Given the description of an element on the screen output the (x, y) to click on. 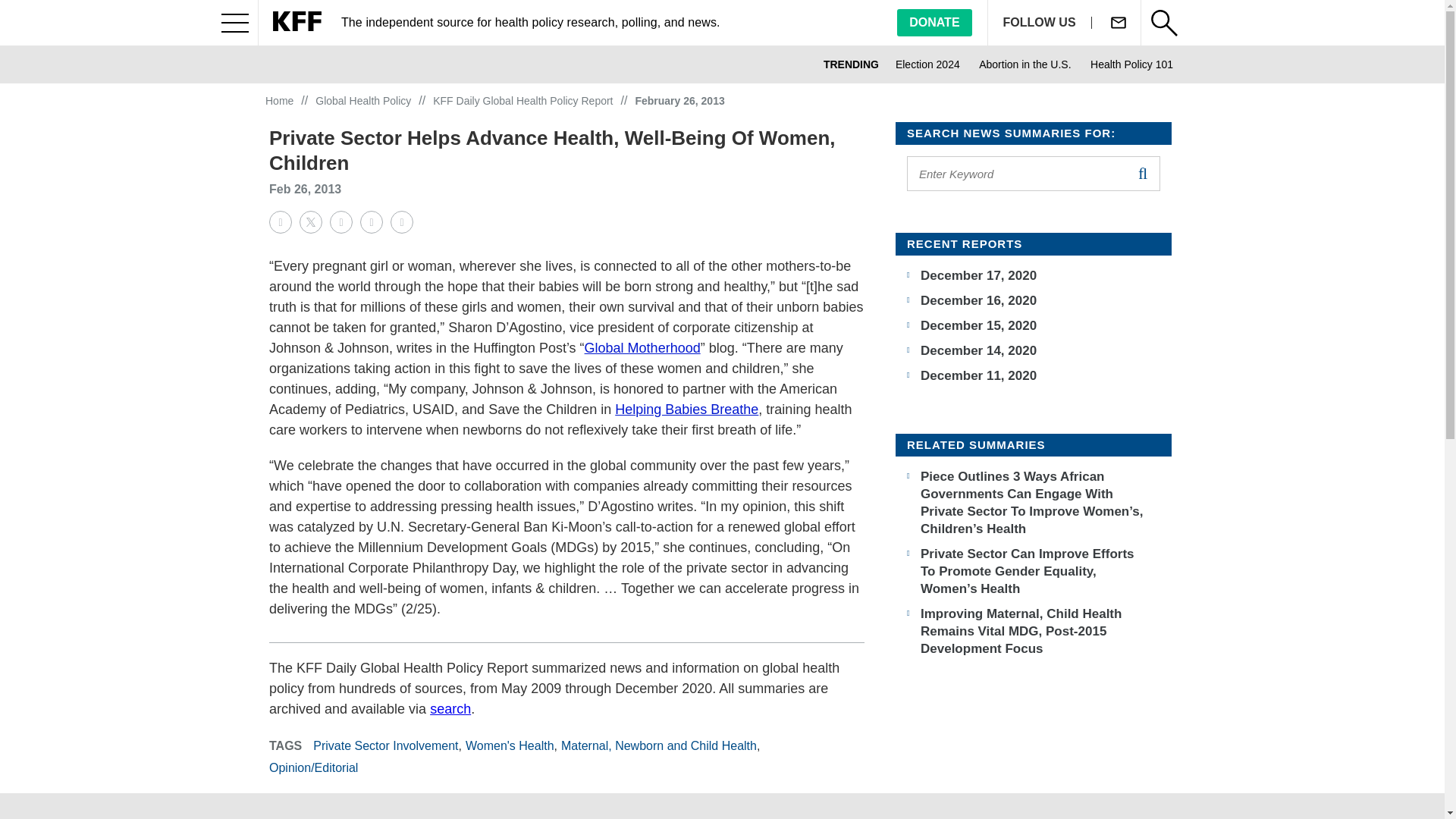
search (1141, 173)
